Given the description of an element on the screen output the (x, y) to click on. 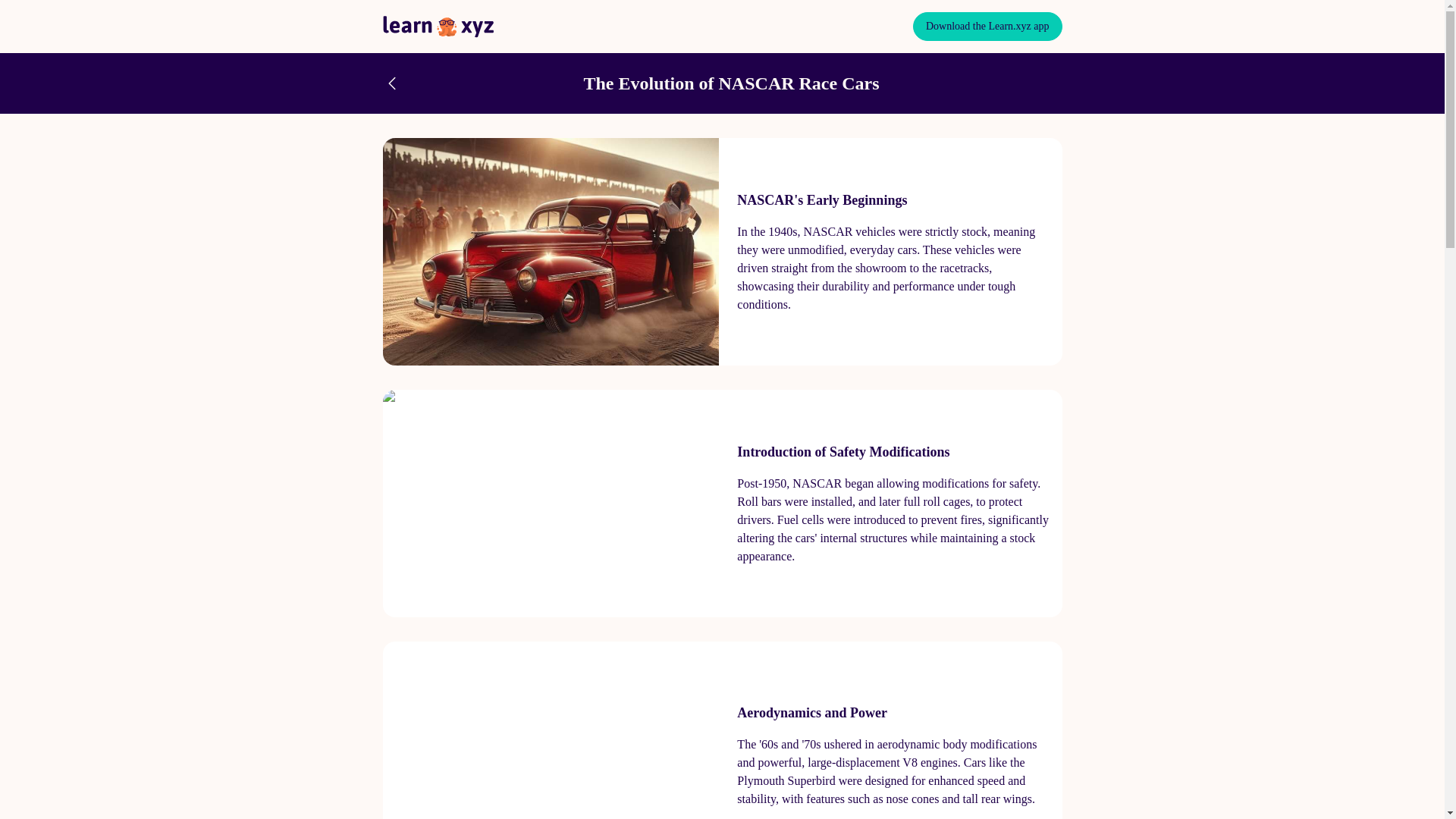
Download the Learn.xyz app (987, 26)
